Given the description of an element on the screen output the (x, y) to click on. 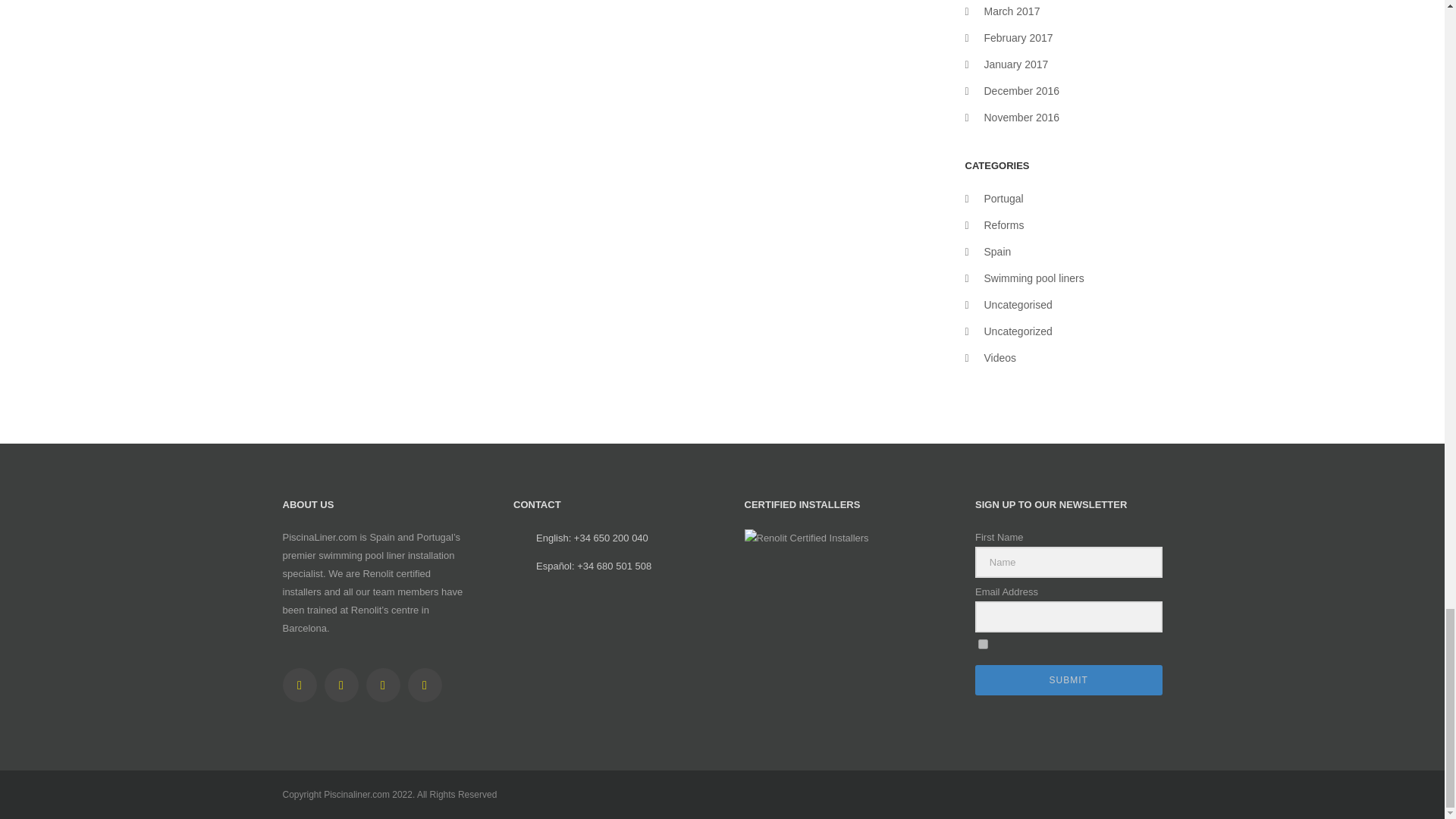
1 (983, 644)
